Given the description of an element on the screen output the (x, y) to click on. 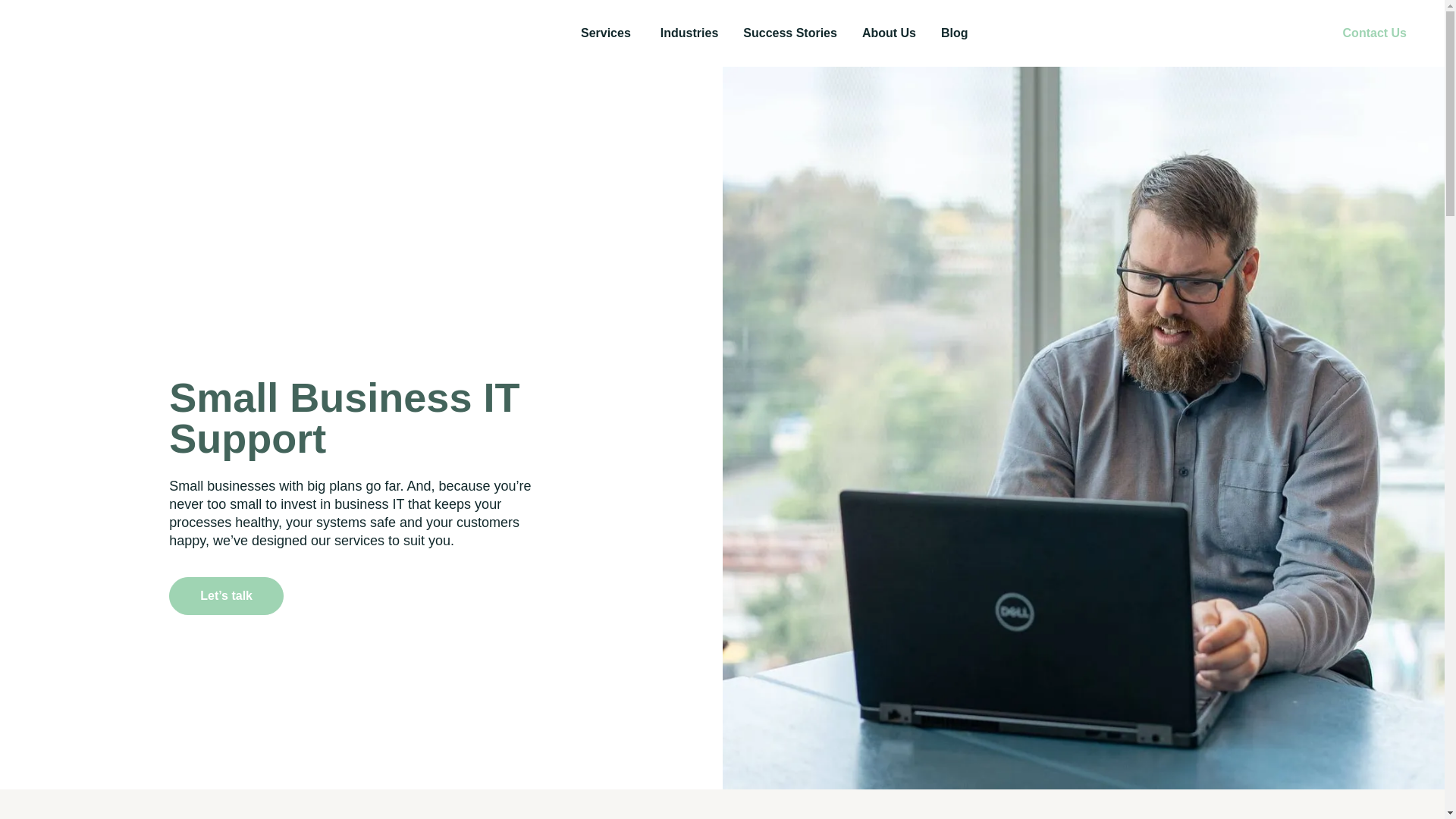
Industries (689, 33)
Success Stories (789, 33)
Services (605, 33)
Blog (954, 33)
About Us (888, 33)
